Given the description of an element on the screen output the (x, y) to click on. 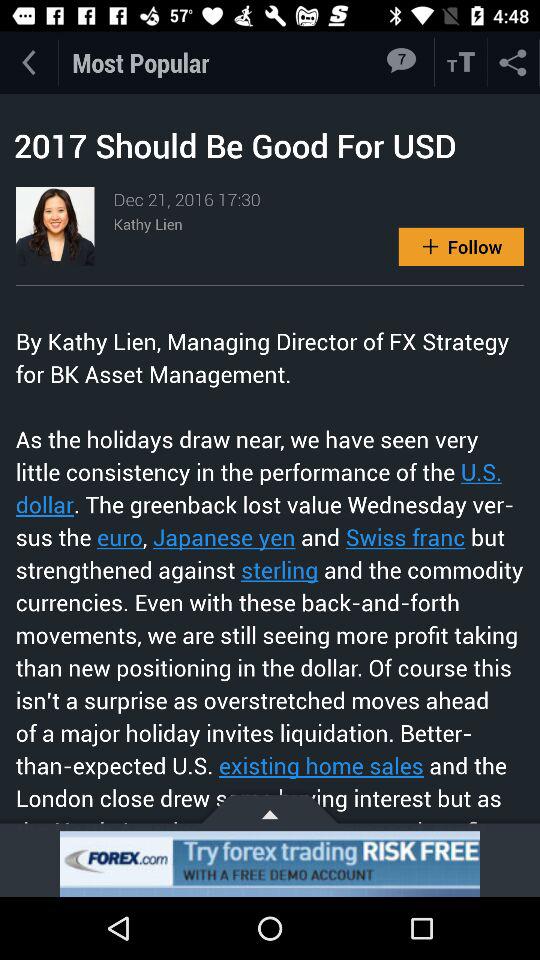
click on the plus icon before the text follow (430, 247)
